Given the description of an element on the screen output the (x, y) to click on. 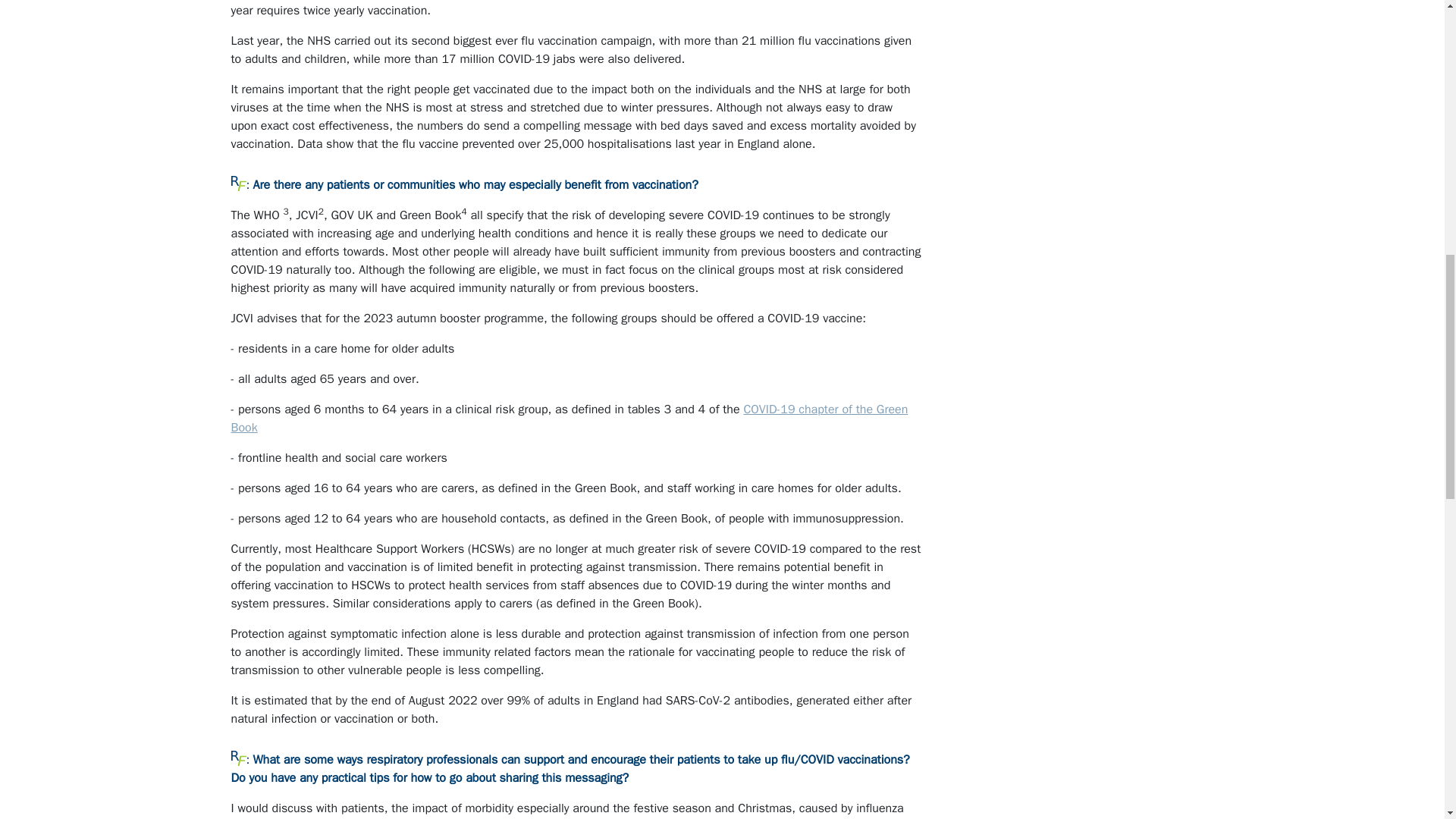
COVID-19 chapter of the Green Book (568, 418)
